Given the description of an element on the screen output the (x, y) to click on. 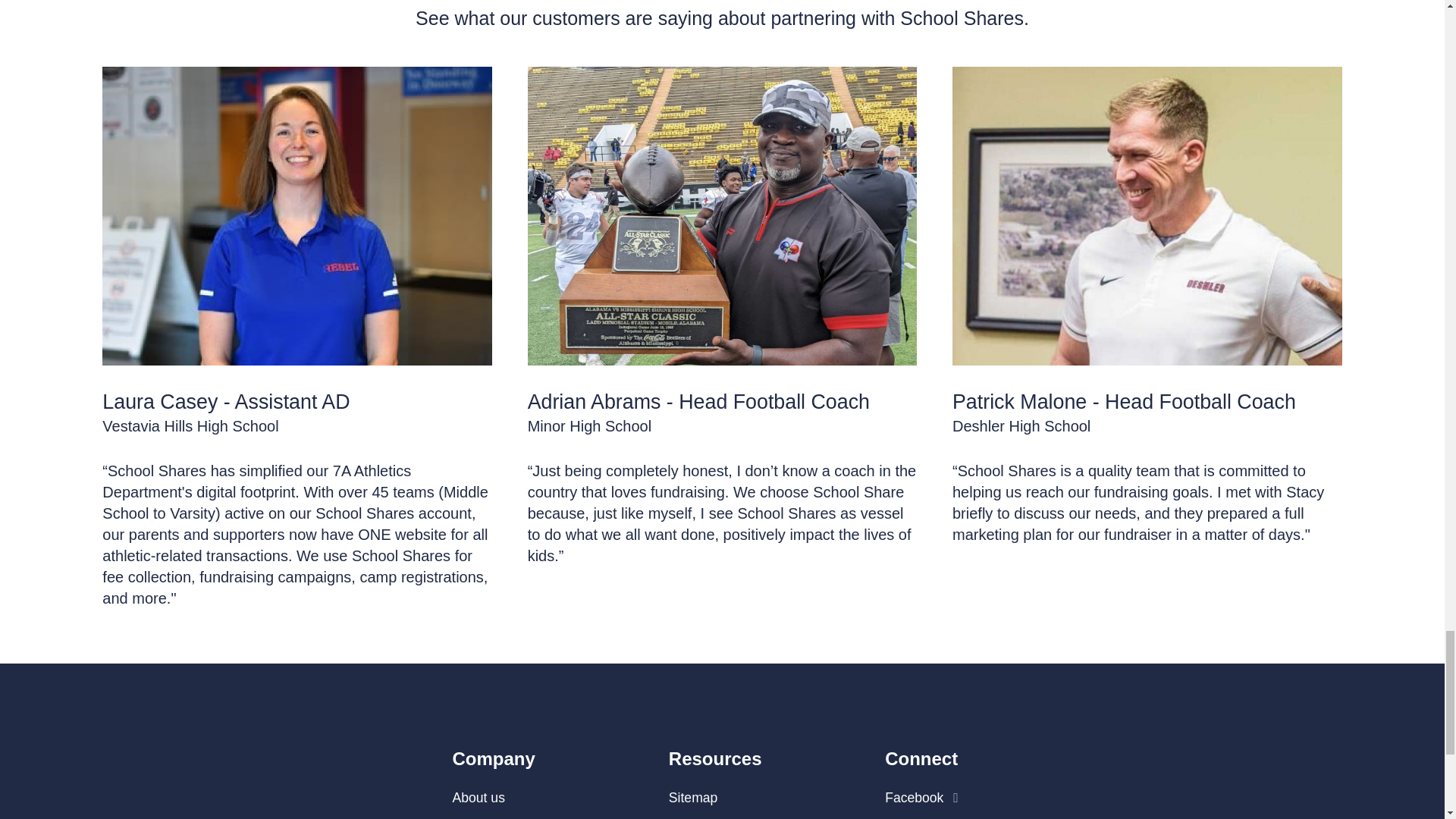
About us (477, 797)
Facebook (921, 797)
Contact Us (701, 817)
Instagram (922, 817)
Sitemap (692, 797)
Stripe (468, 817)
